Given the description of an element on the screen output the (x, y) to click on. 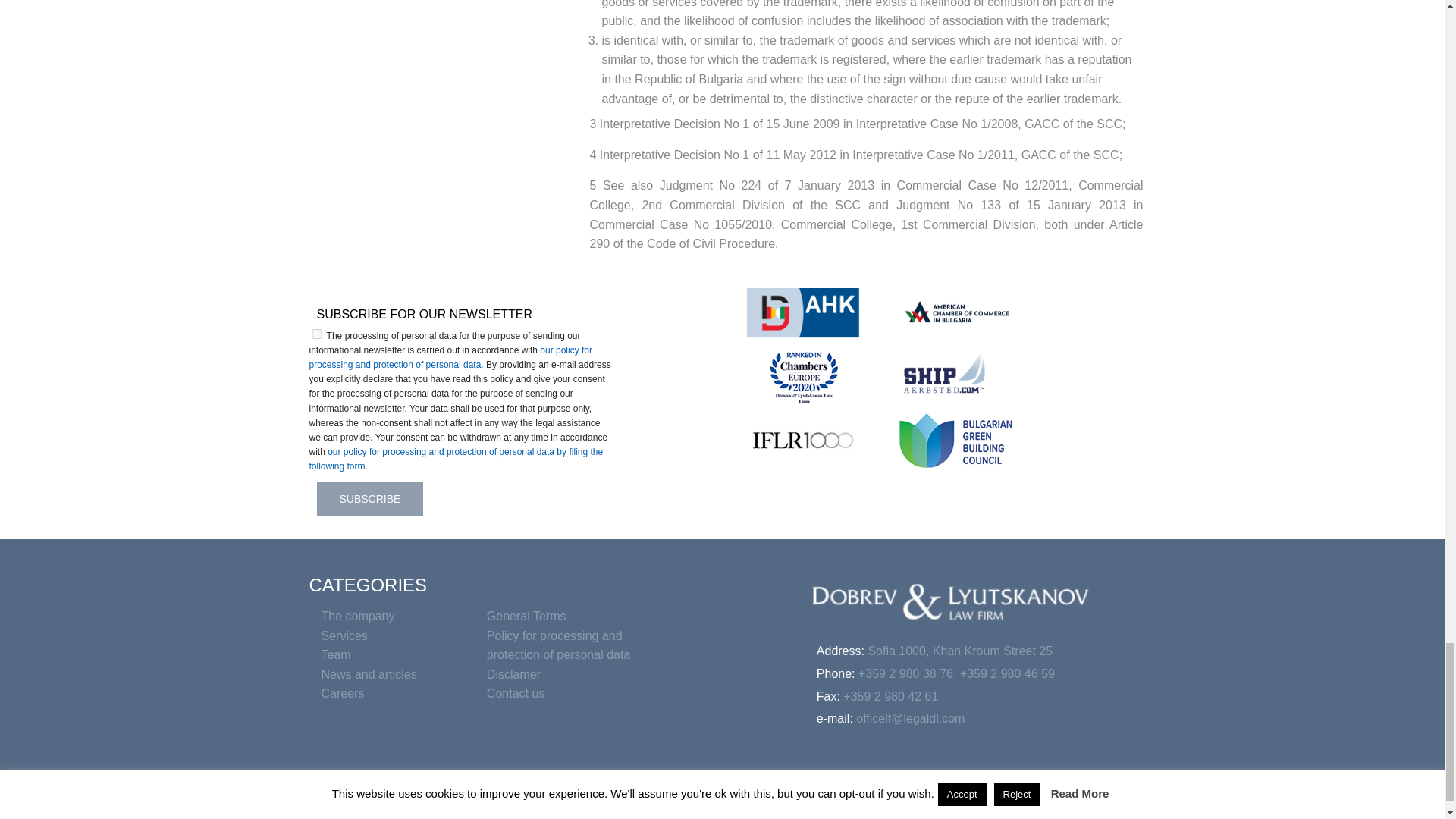
Webtech (1109, 809)
2 (316, 334)
